Given the description of an element on the screen output the (x, y) to click on. 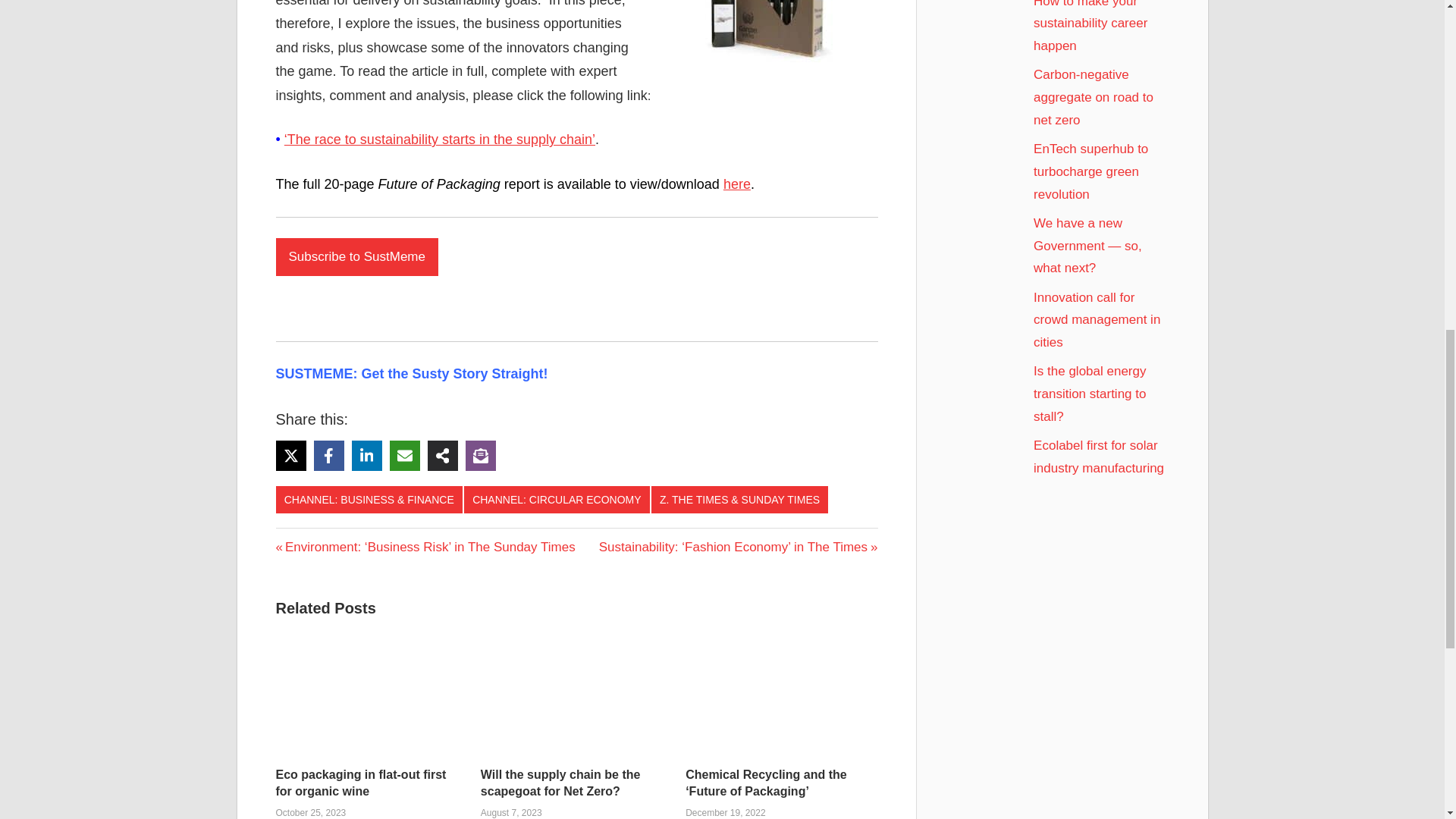
2:20 pm (510, 812)
7:18 pm (311, 812)
Carbon-negative aggregate on road to net zero (1093, 97)
How to make your sustainability career happen (1090, 27)
1:16 pm (725, 812)
EnTech superhub to turbocharge green revolution (1090, 171)
